Given the description of an element on the screen output the (x, y) to click on. 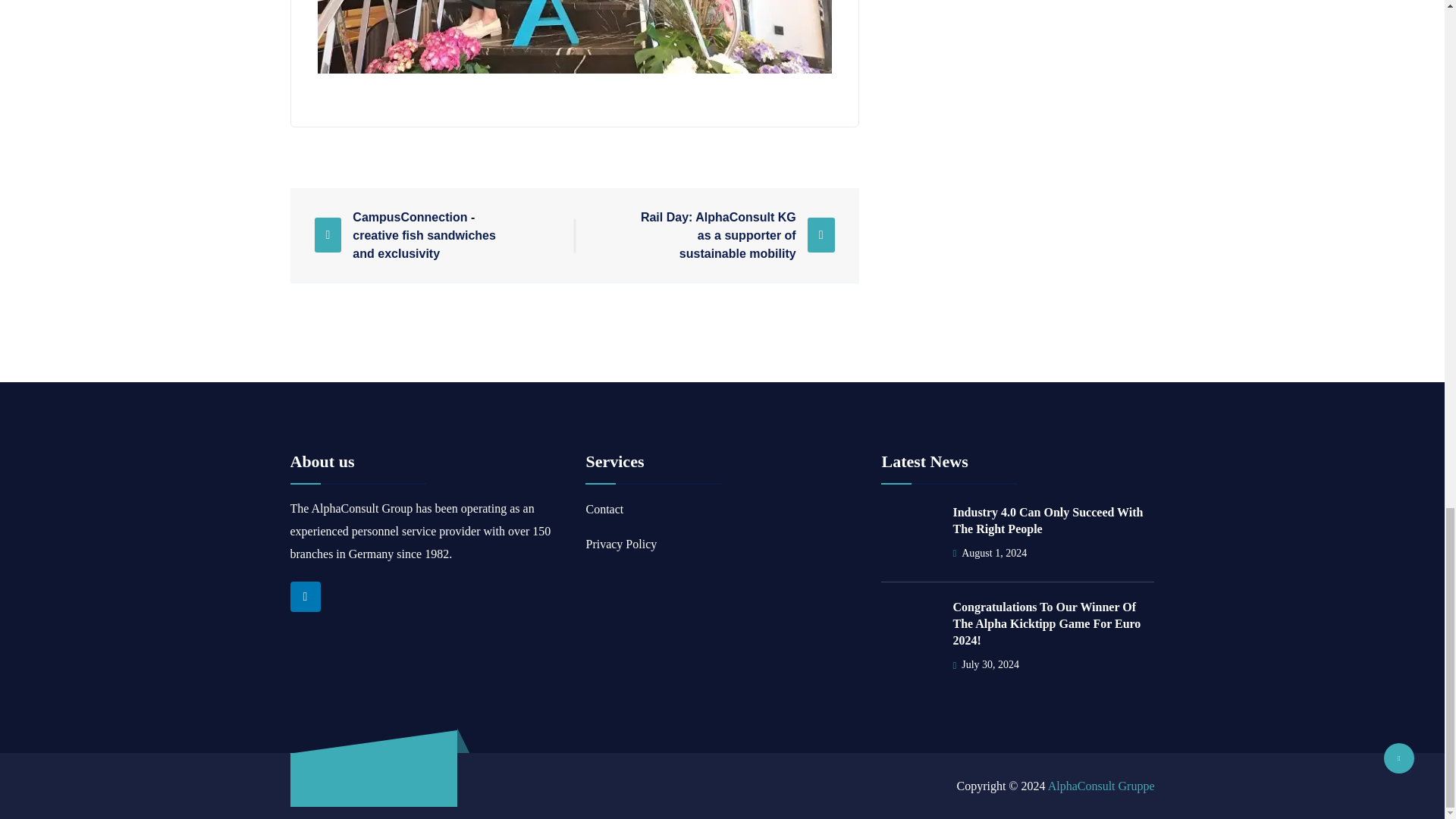
CampusConnection - creative fish sandwiches and exclusivity (415, 235)
